Given the description of an element on the screen output the (x, y) to click on. 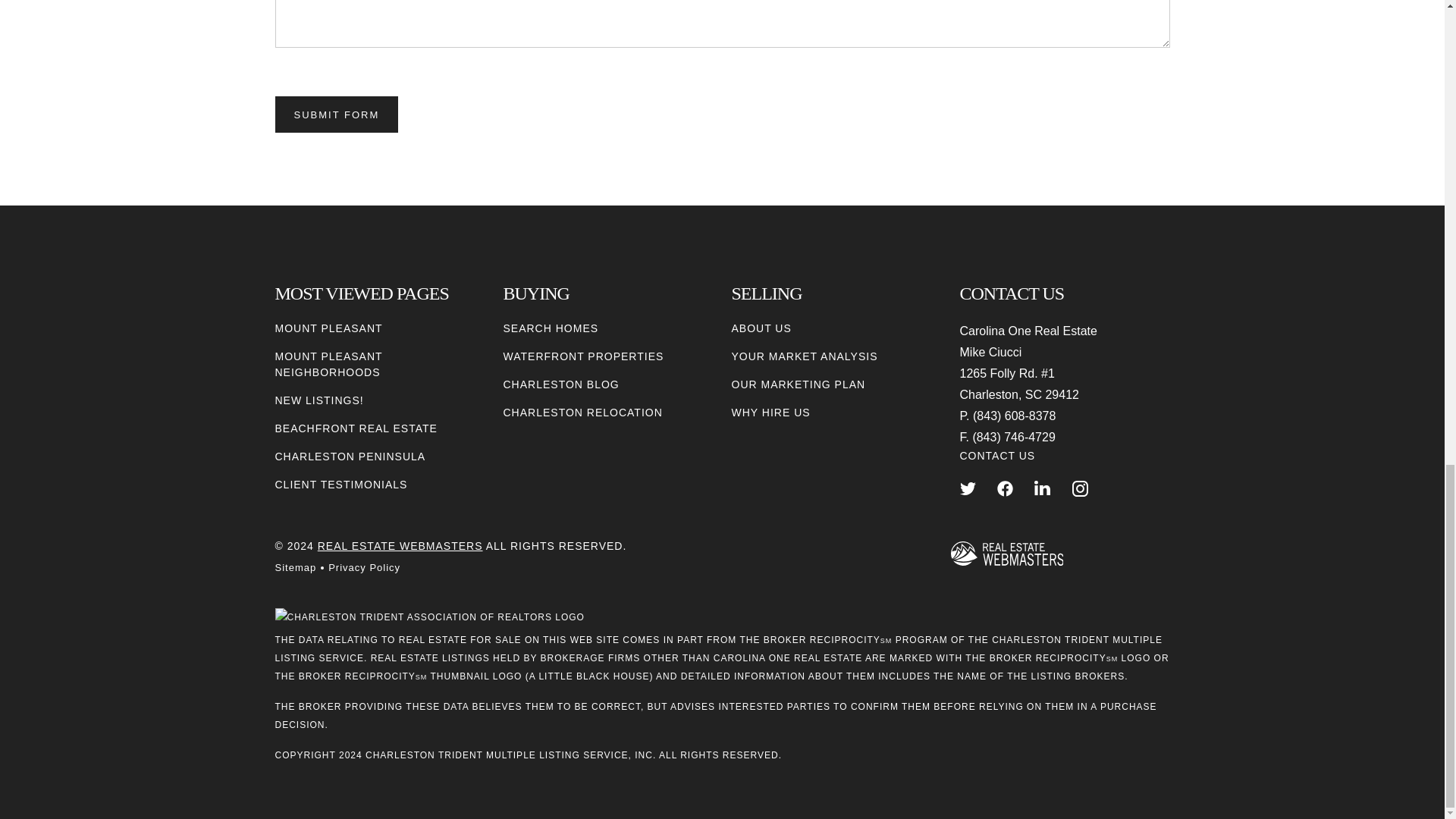
LINKEDIN (1041, 488)
TWITTER (967, 488)
FACEBOOK (1005, 488)
